Given the description of an element on the screen output the (x, y) to click on. 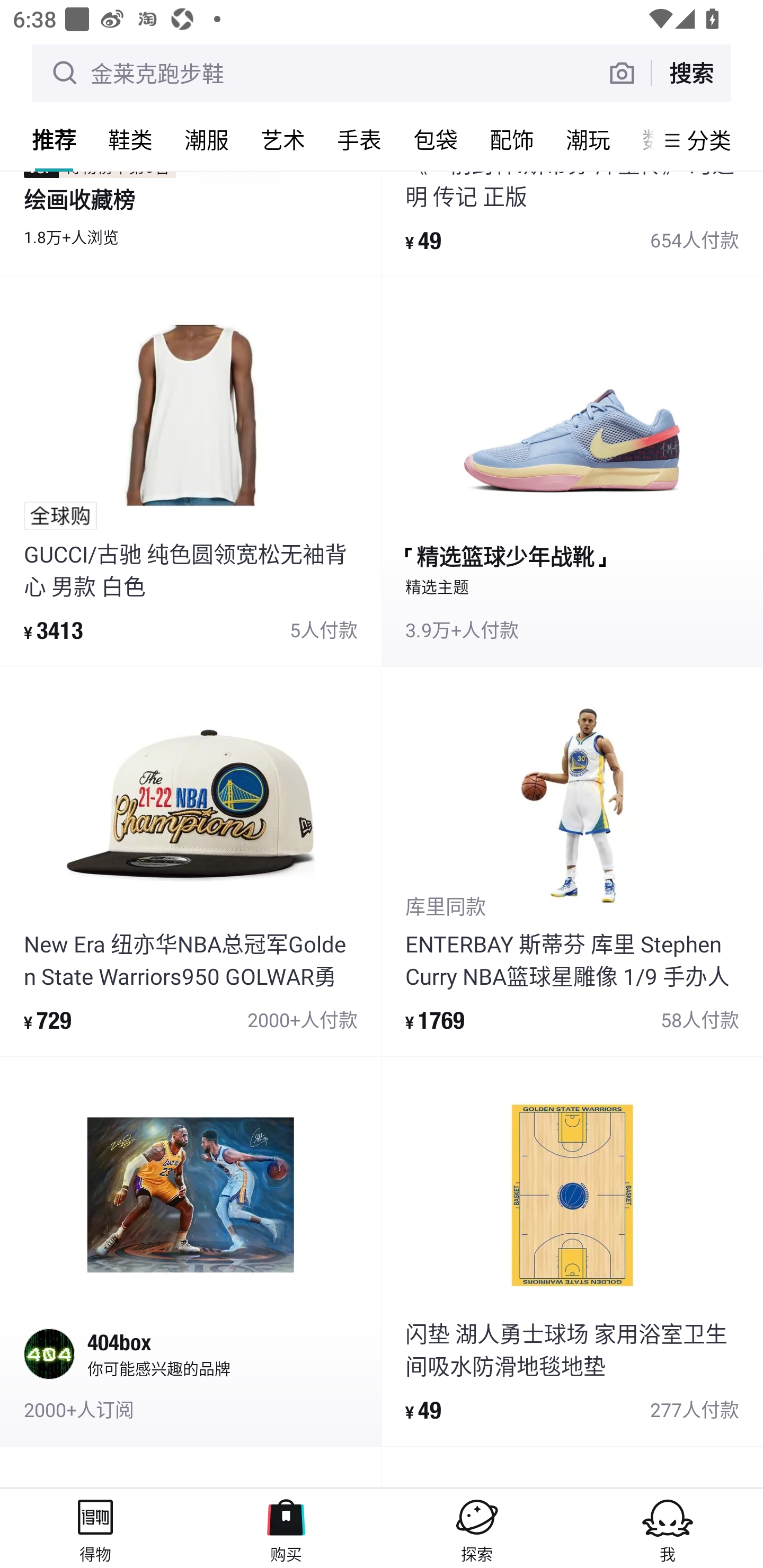
搜索 (690, 72)
推荐 (54, 139)
鞋类 (130, 139)
潮服 (206, 139)
艺术 (282, 139)
手表 (359, 139)
包袋 (435, 139)
配饰 (511, 139)
潮玩 (588, 139)
分类 (708, 139)
精选篮球少年战靴 精选主题 3.9万+人付款 (572, 471)
404box 你可能感兴趣的品牌 2000+人订阅 (190, 1250)
得物 (95, 1528)
购买 (285, 1528)
探索 (476, 1528)
我 (667, 1528)
